Given the description of an element on the screen output the (x, y) to click on. 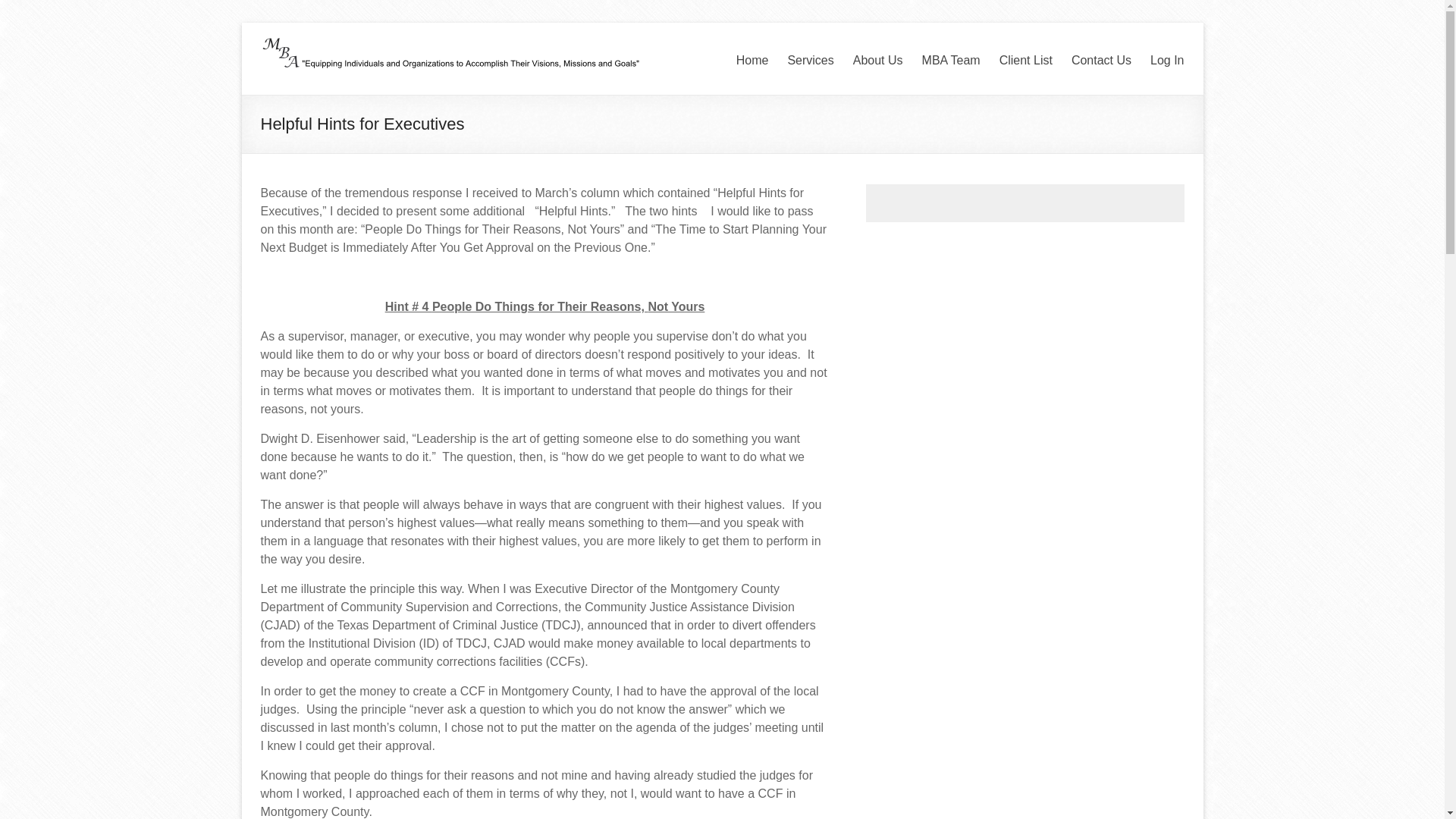
Home (752, 60)
About Us (877, 60)
Log In (1166, 60)
Client List (1025, 60)
Services (809, 60)
Contact Us (1101, 60)
MBA Team (950, 60)
